Given the description of an element on the screen output the (x, y) to click on. 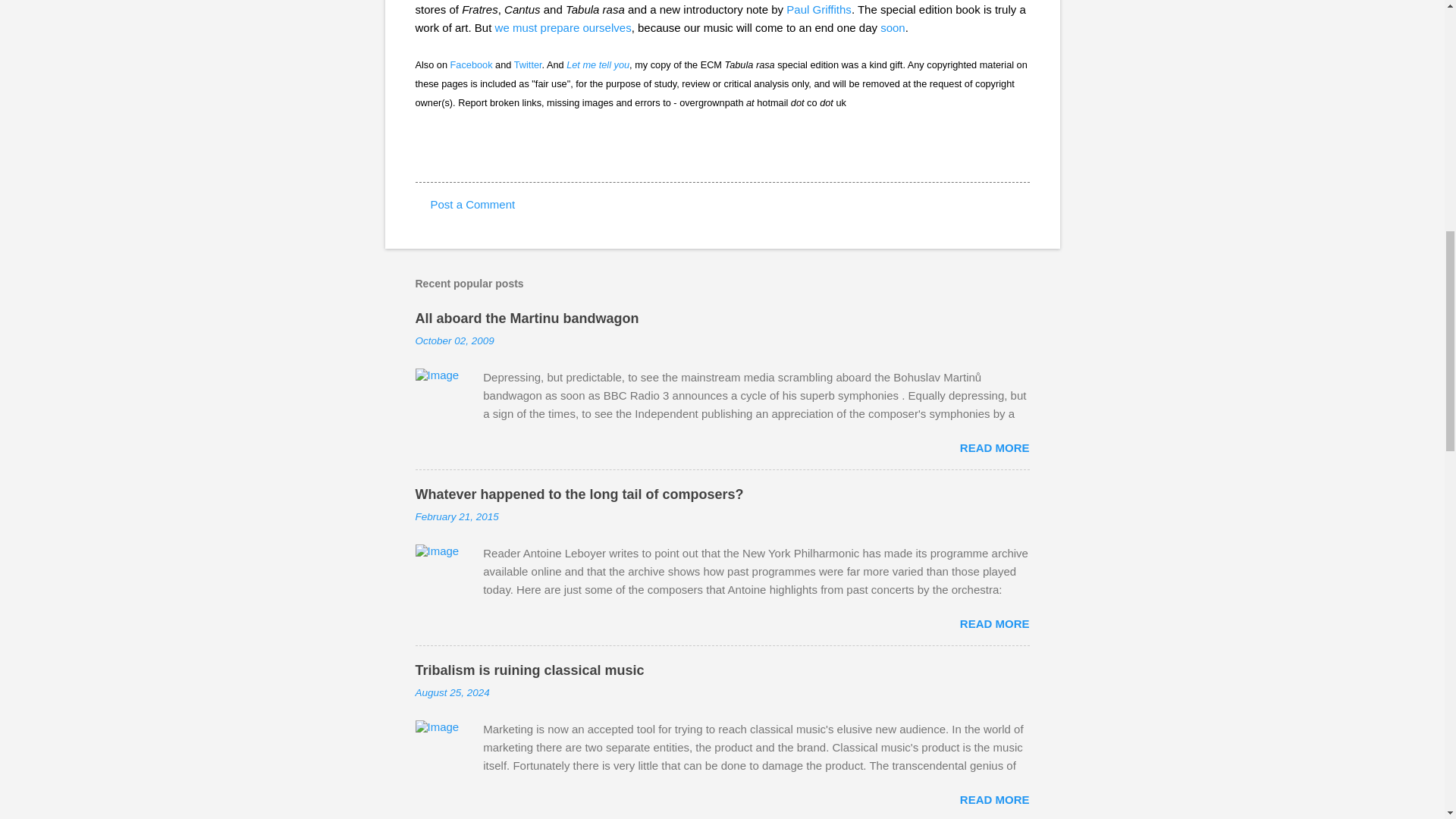
Facebook (471, 64)
Twitter (527, 64)
permanent link (454, 340)
Tribalism is ruining classical music (529, 670)
Whatever happened to the long tail of composers? (579, 494)
READ MORE (994, 799)
Post a Comment (472, 204)
All aboard the Martinu bandwagon (526, 318)
Let me tell you (597, 64)
READ MORE (994, 447)
